Given the description of an element on the screen output the (x, y) to click on. 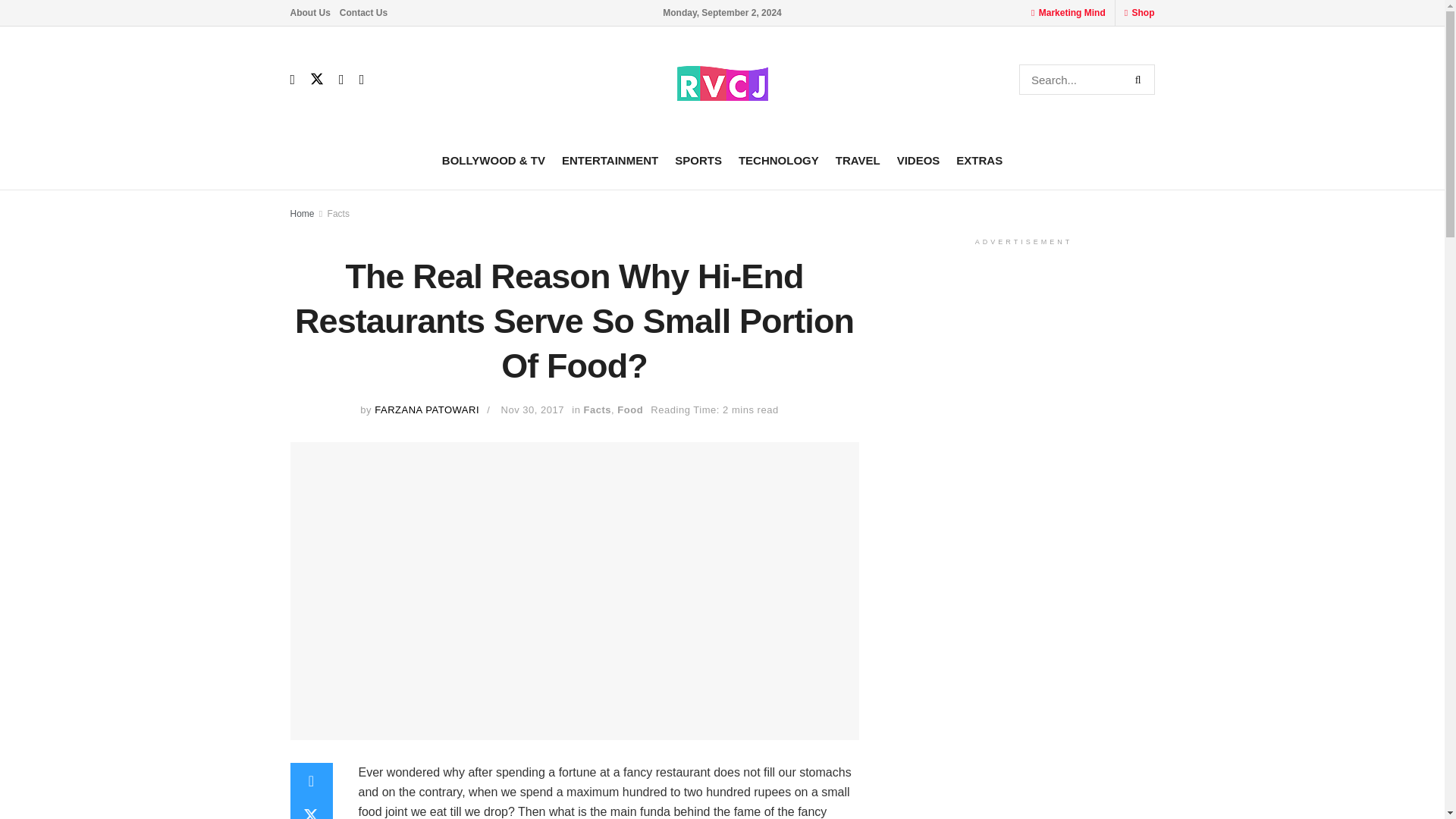
TECHNOLOGY (778, 160)
EXTRAS (979, 160)
Marketing Mind (1072, 12)
Shop (1143, 12)
Facts (338, 213)
TRAVEL (857, 160)
VIDEOS (918, 160)
About Us (309, 12)
Contact Us (363, 12)
FARZANA PATOWARI (426, 409)
